Given the description of an element on the screen output the (x, y) to click on. 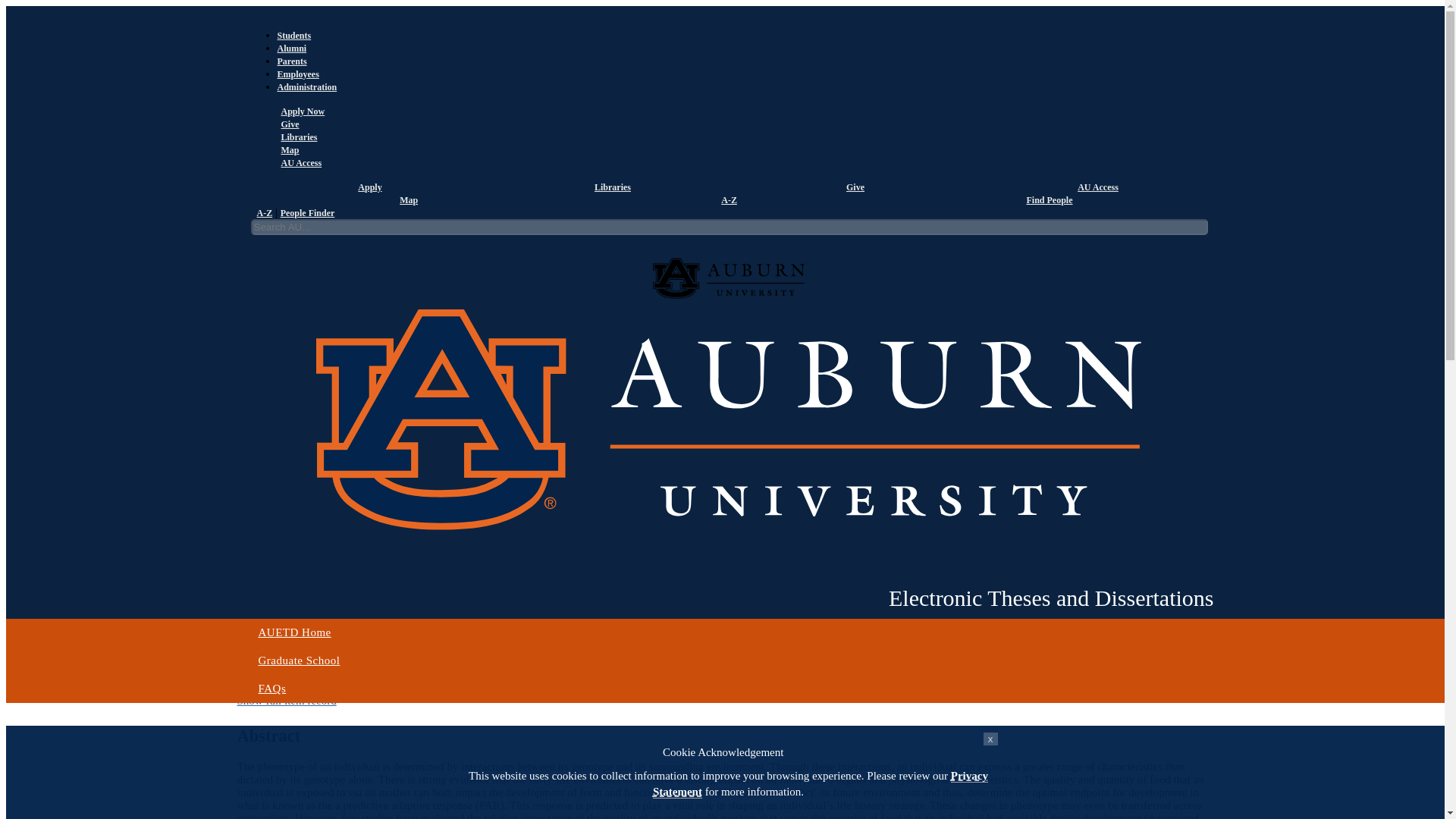
By Issue Date (267, 219)
FAQs (727, 688)
Titles (349, 219)
Graduate School (727, 660)
Apply (367, 186)
Libraries (610, 186)
x (990, 738)
Employees (298, 73)
Authors (319, 219)
Parents (292, 61)
People Finder (307, 213)
Find People (1046, 199)
A-Z (726, 199)
